Given the description of an element on the screen output the (x, y) to click on. 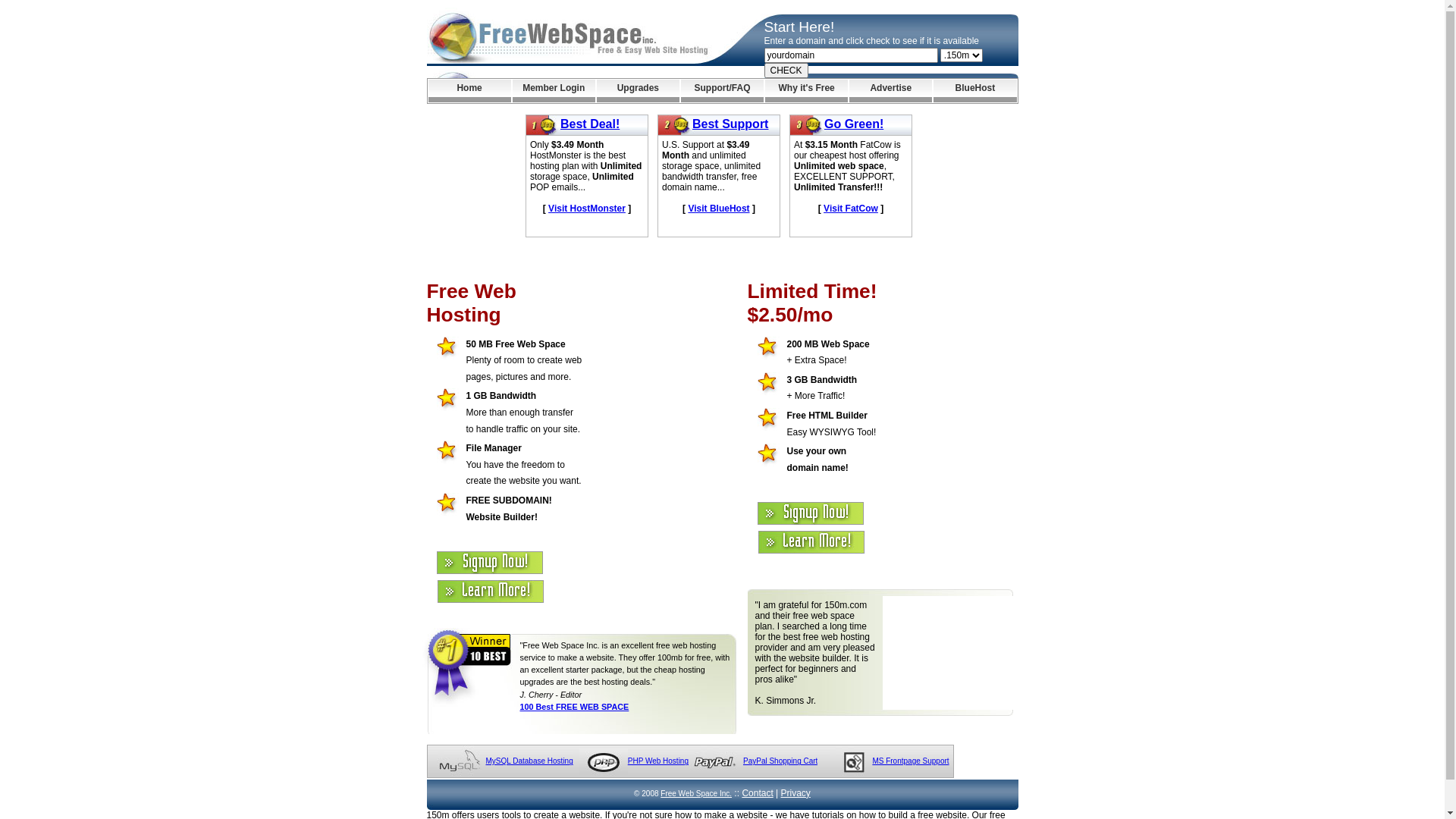
Why it's Free Element type: text (806, 90)
Contact Element type: text (756, 792)
BlueHost Element type: text (974, 90)
Advertise Element type: text (890, 90)
Support/FAQ Element type: text (721, 90)
Free Web Space Inc. Element type: text (695, 793)
Home Element type: text (468, 90)
PayPal Shopping Cart Element type: text (780, 760)
Member Login Element type: text (553, 90)
MySQL Database Hosting Element type: text (528, 760)
100 Best FREE WEB SPACE Element type: text (574, 706)
Upgrades Element type: text (637, 90)
Privacy Element type: text (795, 792)
MS Frontpage Support Element type: text (910, 760)
CHECK Element type: text (786, 70)
PHP Web Hosting Element type: text (657, 760)
